Given the description of an element on the screen output the (x, y) to click on. 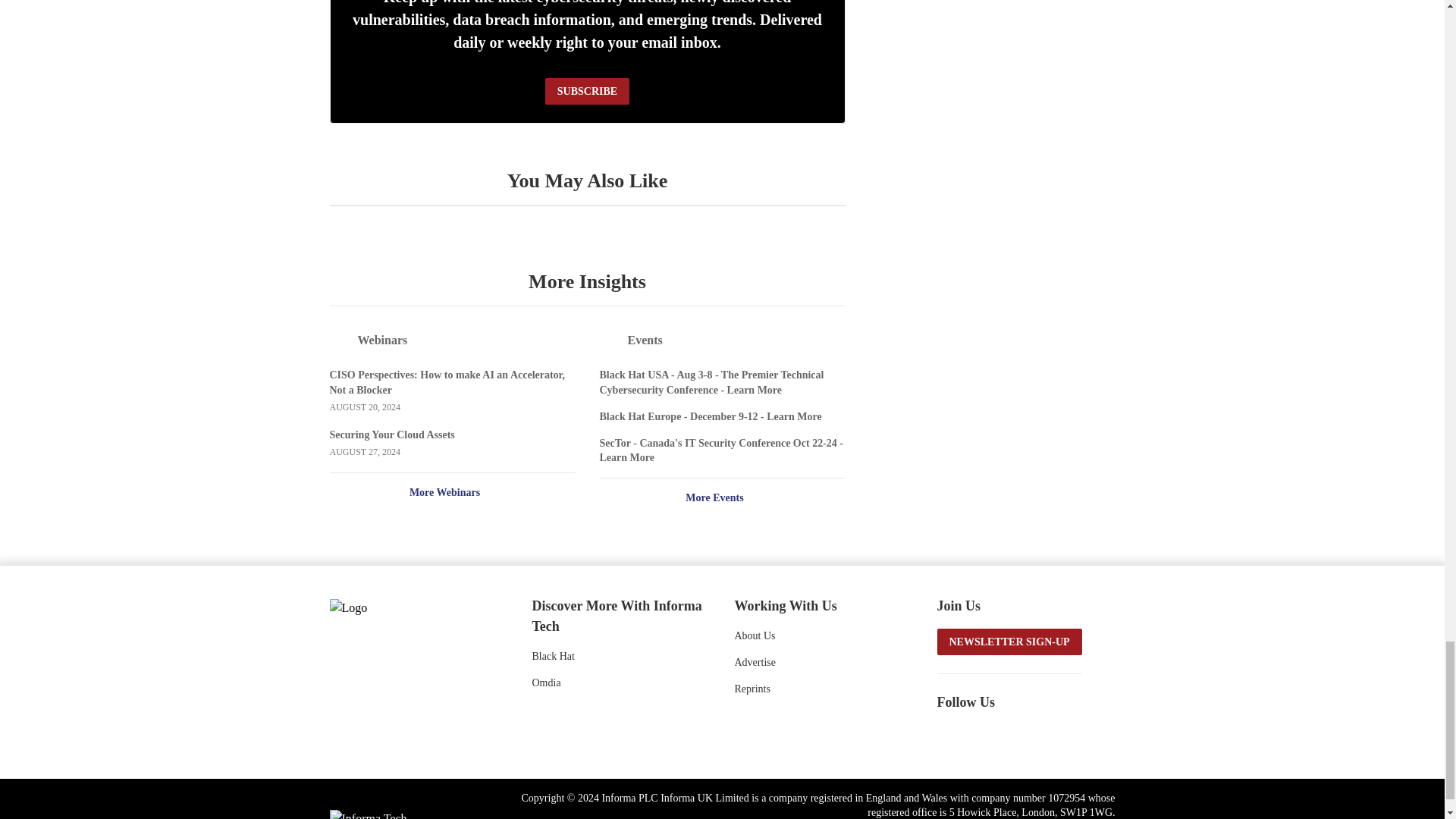
Logo (410, 606)
Informa Tech (367, 814)
